Given the description of an element on the screen output the (x, y) to click on. 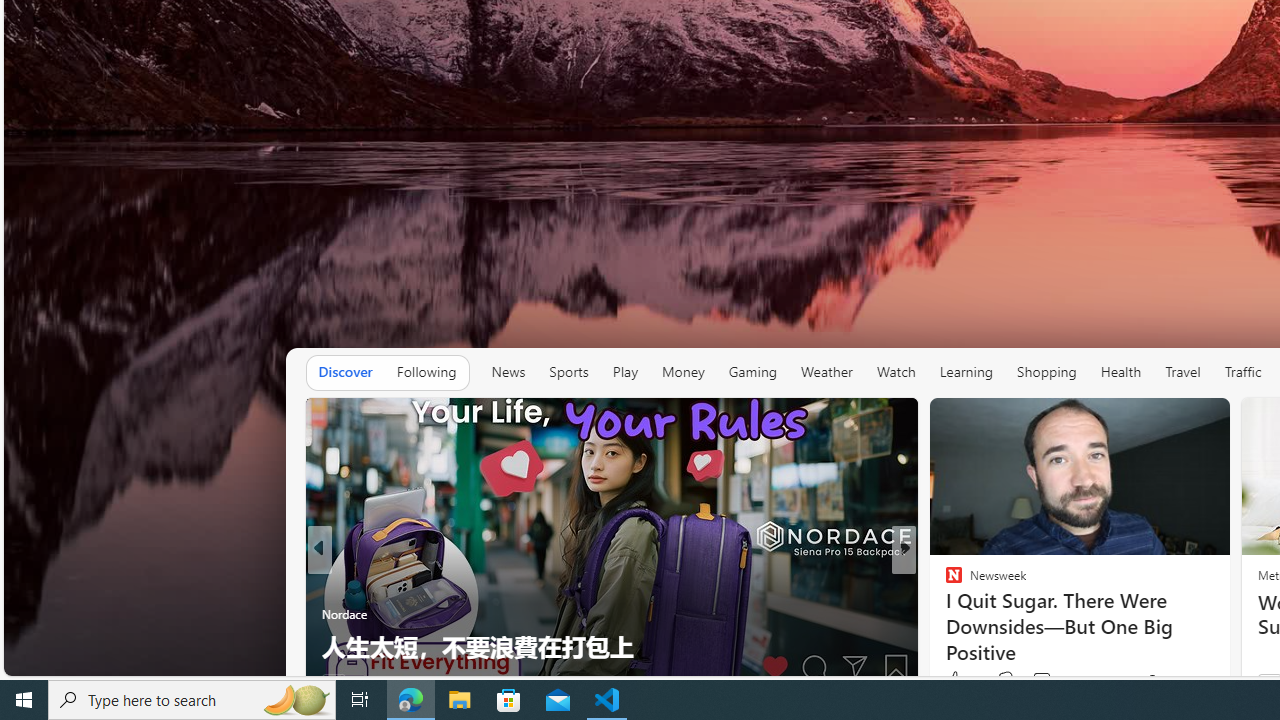
View comments 18 Comment (1051, 681)
Learning (966, 372)
SlashGear (944, 614)
View comments 48 Comment (1051, 681)
Gaming (752, 372)
View comments 116 Comment (1041, 679)
Gaming (752, 371)
View comments 116 Comment (1053, 680)
